Given the description of an element on the screen output the (x, y) to click on. 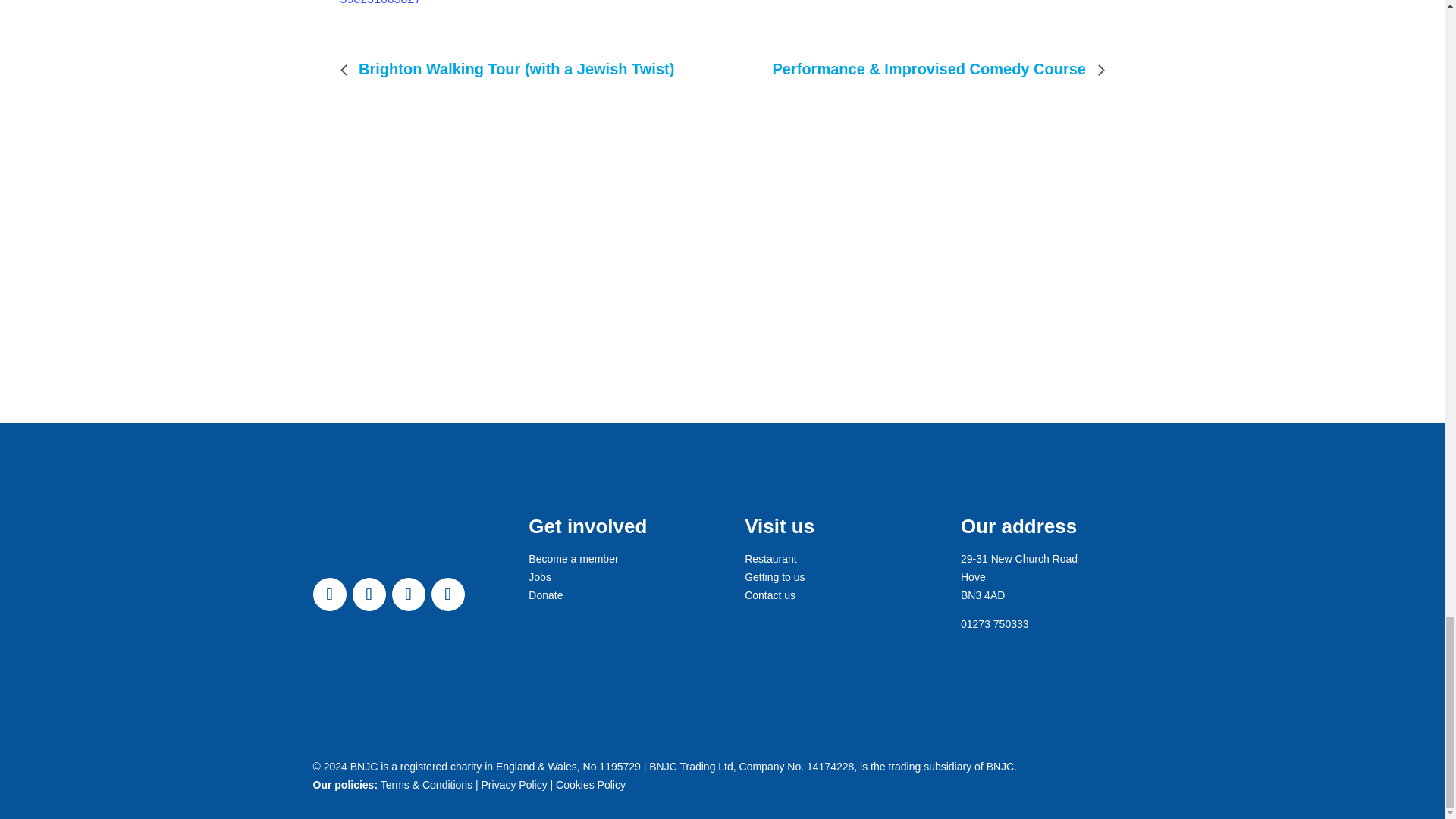
Follow on Facebook (329, 594)
Follow on Instagram (408, 594)
Follow on X (368, 594)
bnjc-logo-white (348, 551)
Follow on LinkedIn (447, 594)
single-wave-white (397, 665)
